Given the description of an element on the screen output the (x, y) to click on. 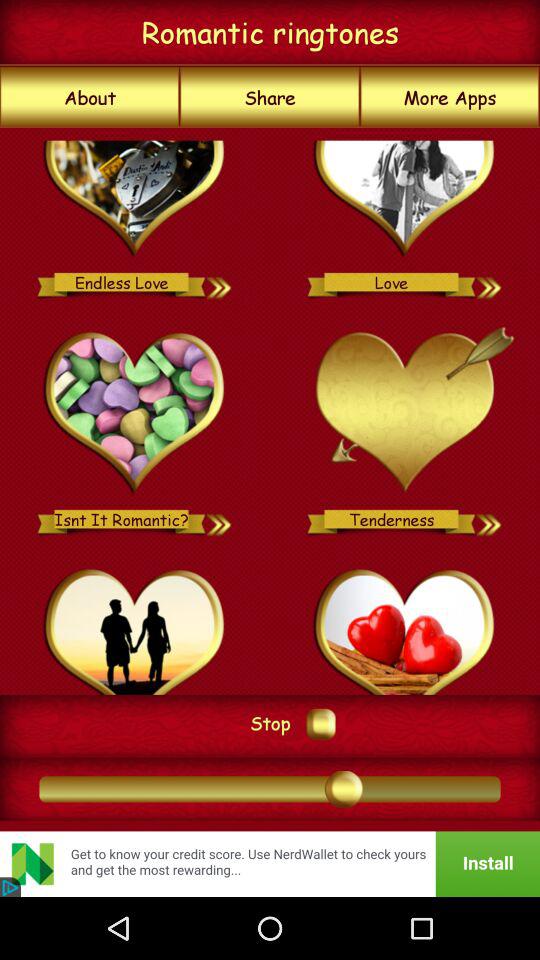
launch item at the center (270, 410)
